Given the description of an element on the screen output the (x, y) to click on. 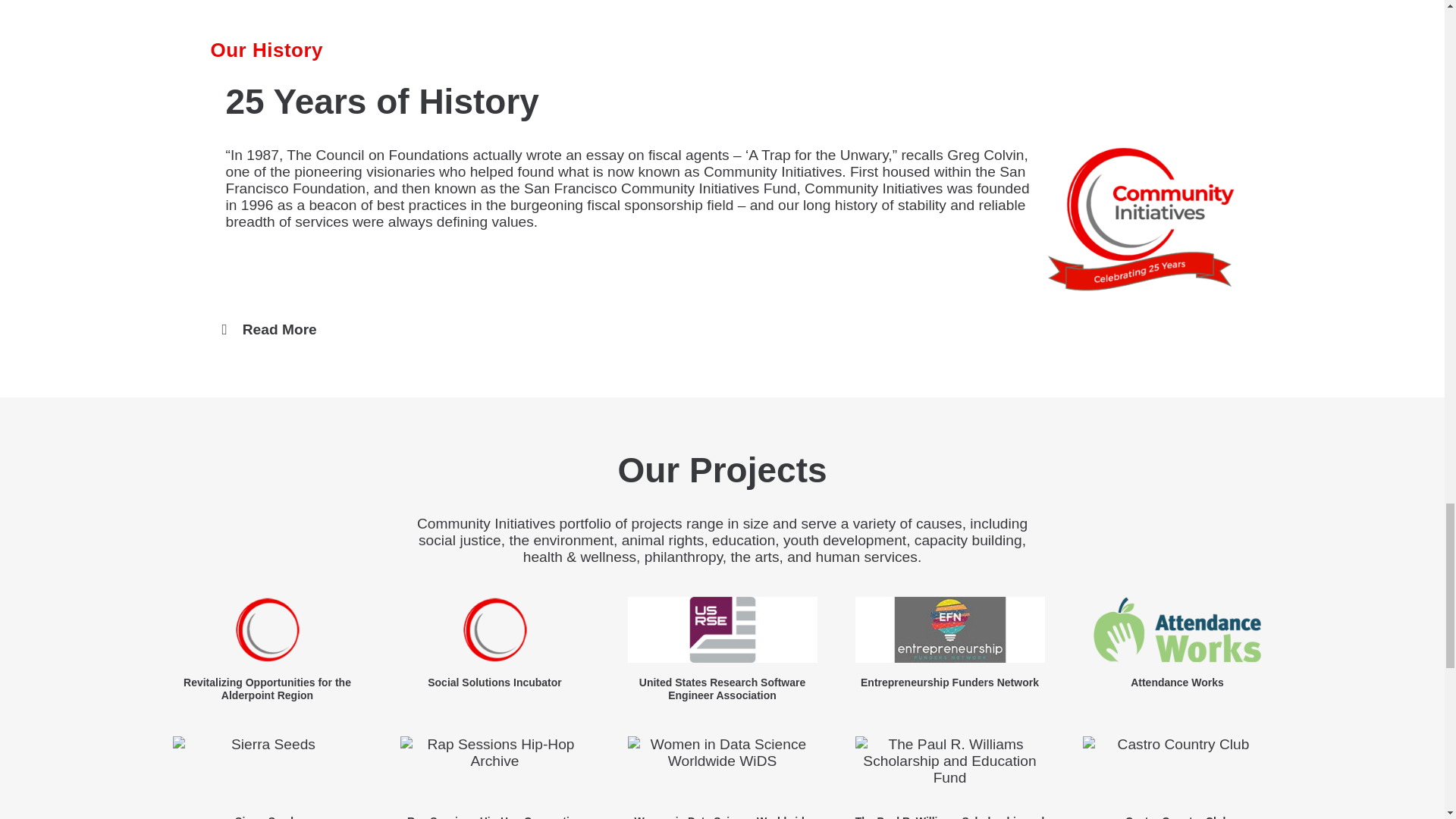
Read More (280, 329)
